Given the description of an element on the screen output the (x, y) to click on. 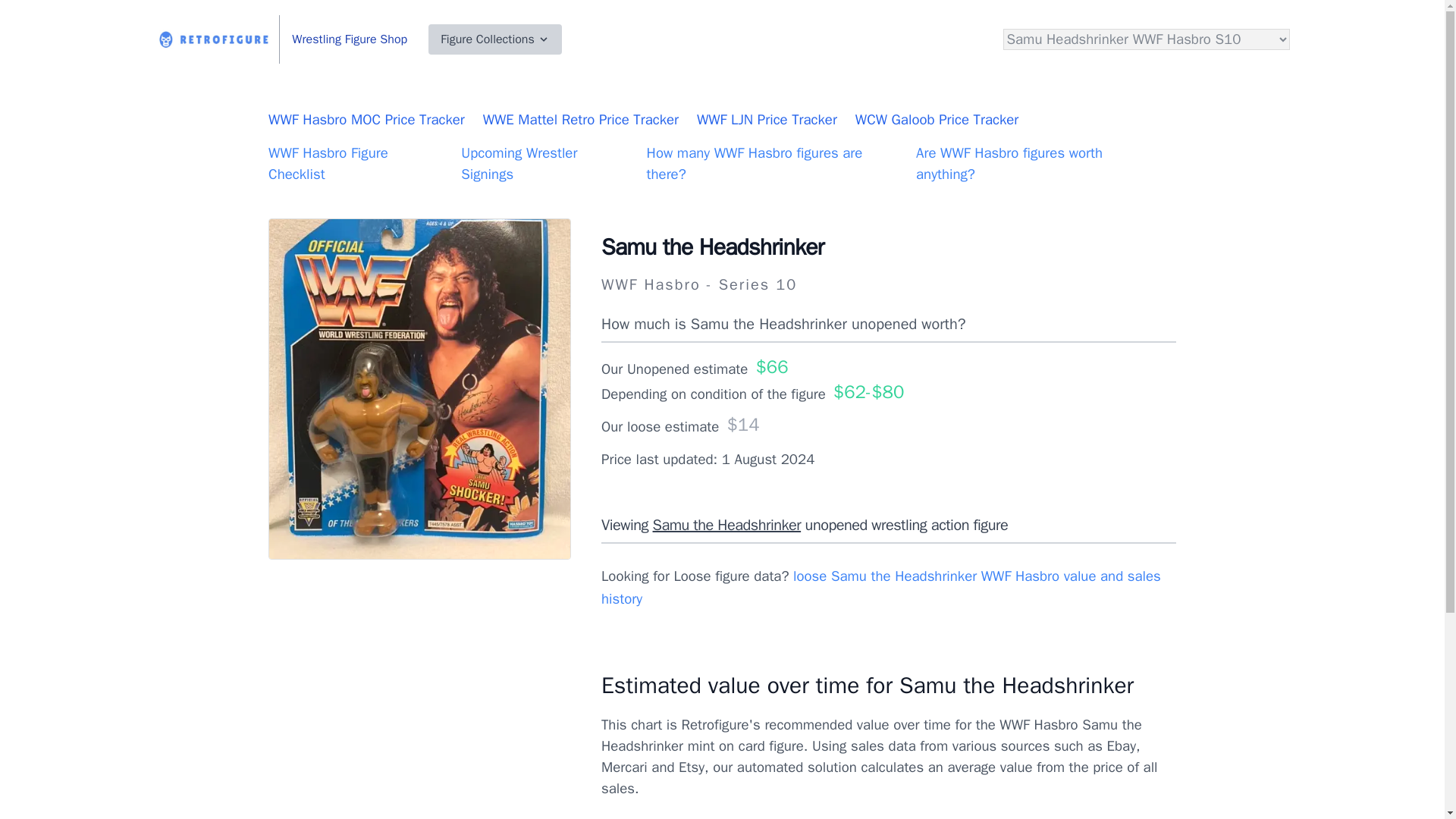
Wrestling Figure Shop (349, 39)
Upcoming Wrestler Signings (518, 163)
WWE Mattel Retro Price Tracker (580, 119)
Retrofigure (213, 39)
WWE Mattel Retro Price Tracker (580, 119)
How many WWF Hasbro figures are there? (754, 163)
WWF Hasbro Price Tracker (365, 119)
WWF LJN Price Tracker (767, 119)
Wrestling Figure Shop (349, 39)
WWF LJN Price Tracker (767, 119)
